Given the description of an element on the screen output the (x, y) to click on. 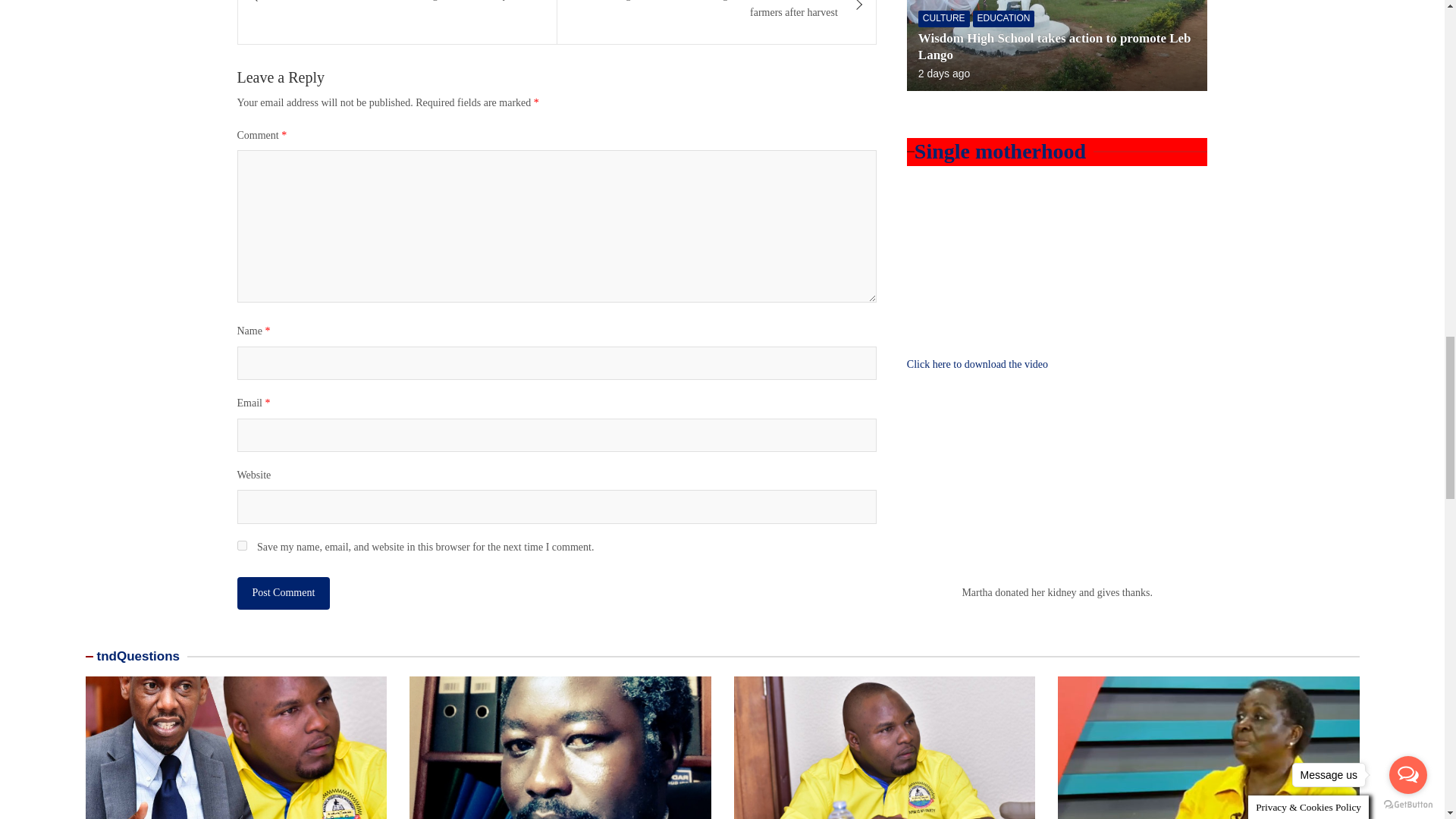
yes (240, 545)
Post Comment (282, 593)
